Given the description of an element on the screen output the (x, y) to click on. 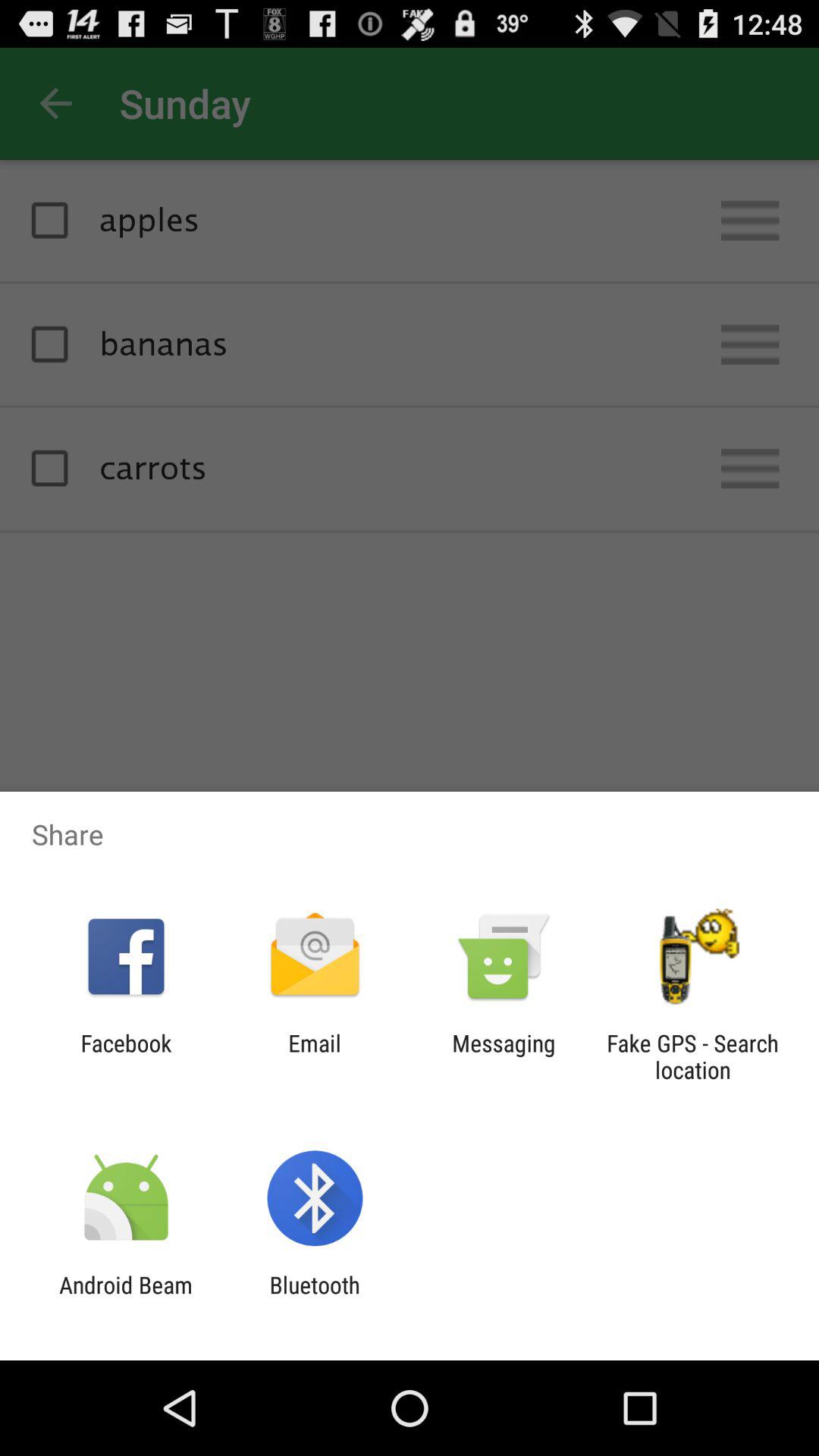
scroll to the email item (314, 1056)
